Given the description of an element on the screen output the (x, y) to click on. 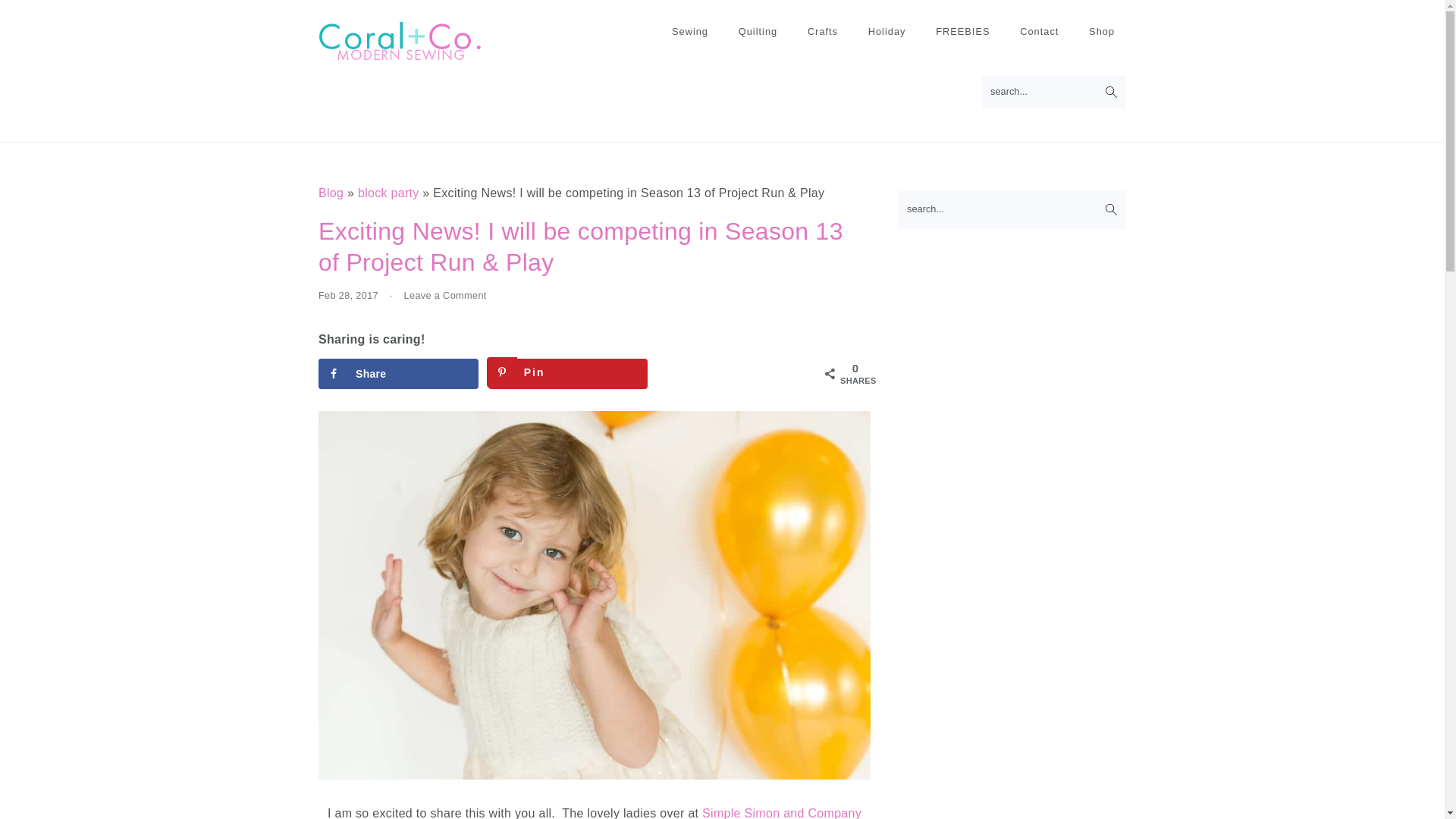
Contact (1039, 32)
Crafts (822, 32)
Share on Facebook (398, 373)
FREEBIES (962, 32)
Sewing (690, 32)
Save to Pinterest (567, 373)
Shop (1101, 32)
Quilting (757, 32)
Holiday (887, 32)
